Given the description of an element on the screen output the (x, y) to click on. 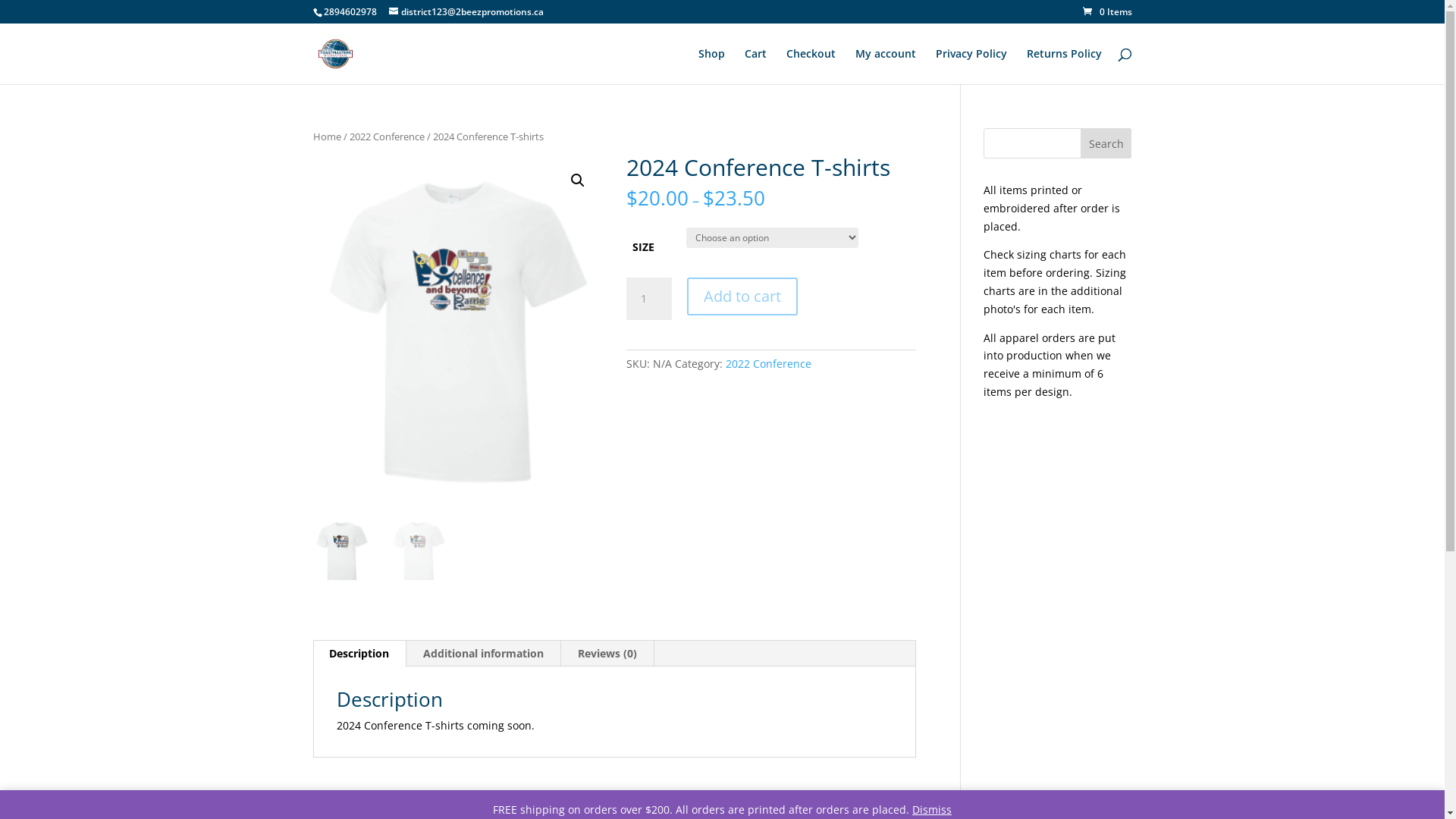
Cart Element type: text (755, 66)
0 Items Element type: text (1107, 11)
2022 Conference Element type: text (768, 363)
Returns Policy Element type: text (1063, 66)
district123@2beezpromotions.ca Element type: text (465, 11)
Checkout Element type: text (809, 66)
Description Element type: text (358, 653)
Reviews (0) Element type: text (607, 653)
My account Element type: text (885, 66)
Add to cart Element type: text (742, 296)
Dismiss Element type: text (931, 809)
Privacy Policy Element type: text (971, 66)
Home Element type: text (326, 136)
Shop Element type: text (710, 66)
2022 CONFERENCE TSHIRT Element type: hover (457, 329)
Additional information Element type: text (483, 653)
Search Element type: text (1106, 143)
2022 Conference Element type: text (385, 136)
